Given the description of an element on the screen output the (x, y) to click on. 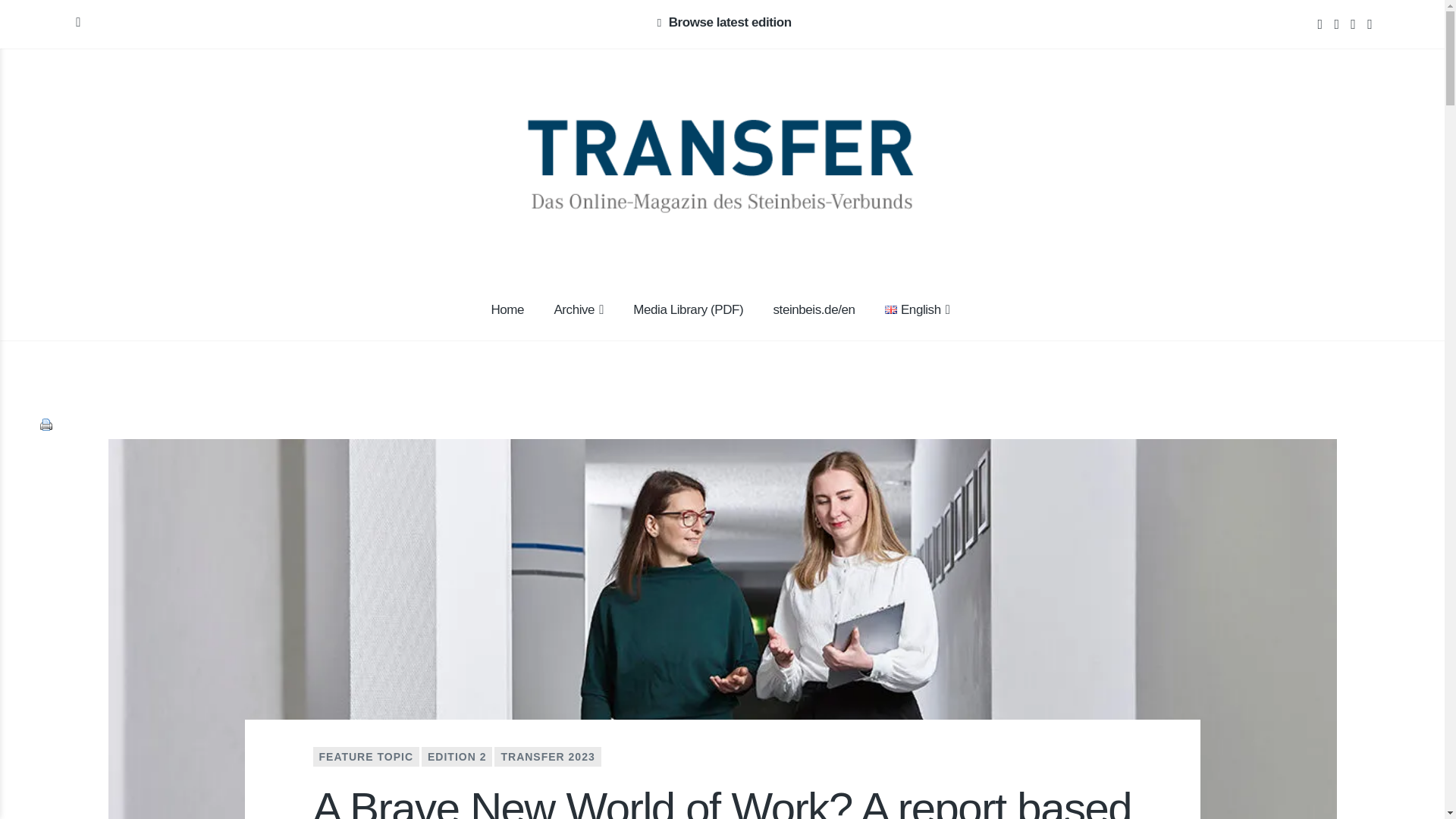
Steinbeis Transfer-Magazin (393, 179)
Home (507, 310)
Archive (578, 310)
English (890, 309)
